Given the description of an element on the screen output the (x, y) to click on. 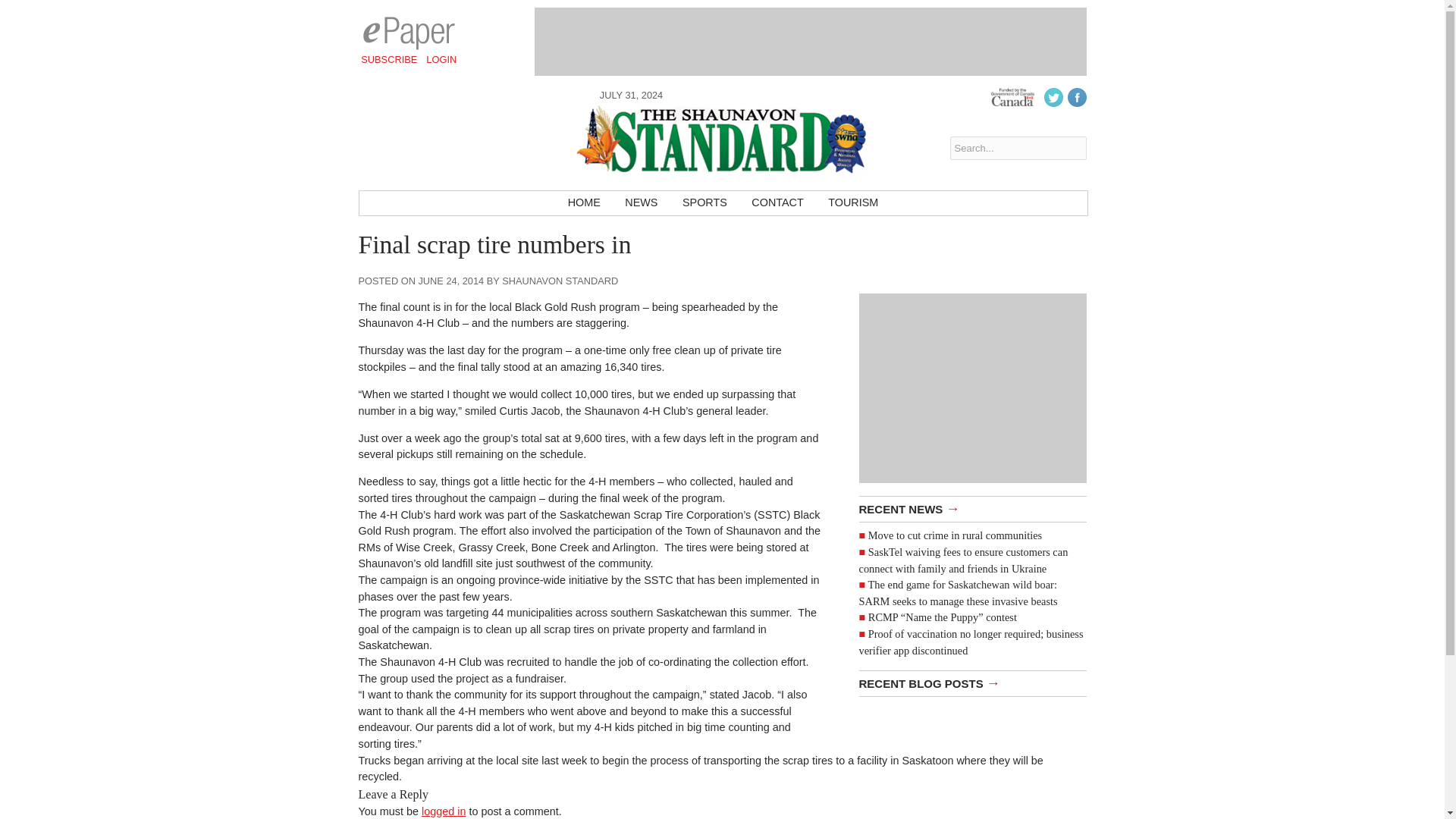
CONTACT (777, 202)
LOGIN (441, 58)
HOME (584, 202)
SUBSCRIBE (389, 58)
logged in (443, 811)
SPORTS (704, 202)
NEWS (641, 202)
TOURISM (852, 202)
Move to cut crime in rural communities (954, 535)
